Given the description of an element on the screen output the (x, y) to click on. 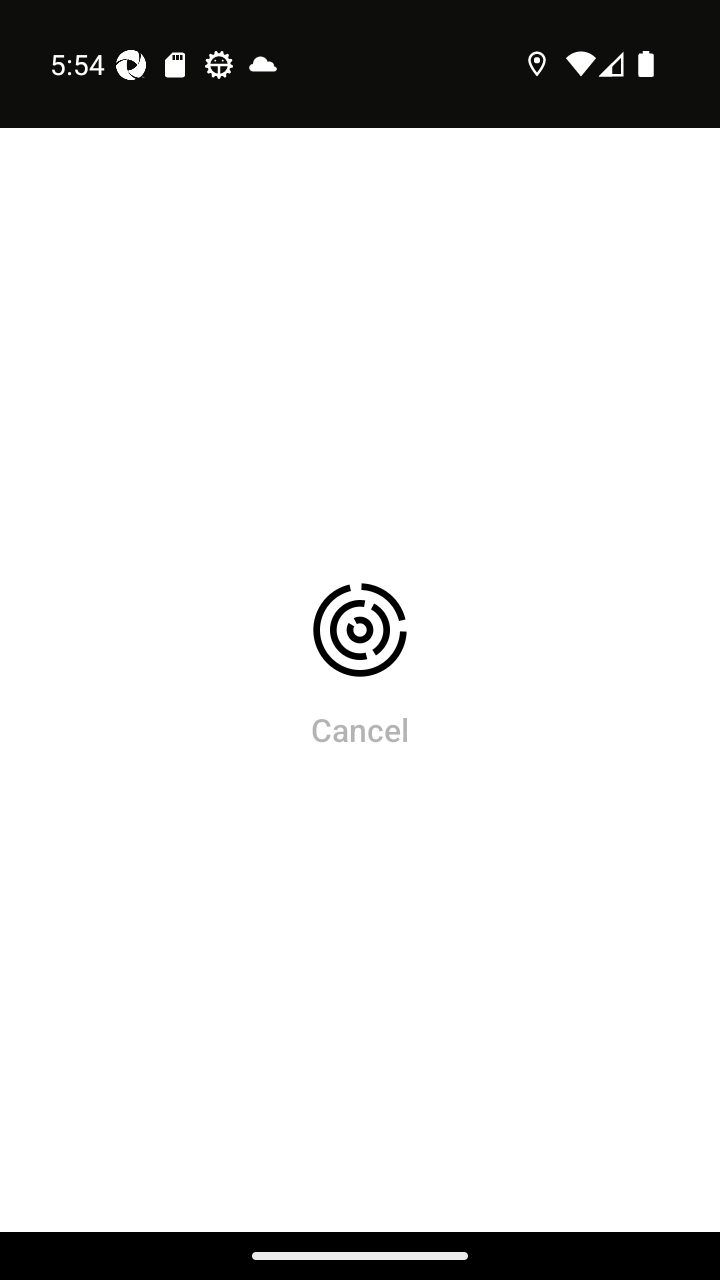
Cancel (360, 729)
